Given the description of an element on the screen output the (x, y) to click on. 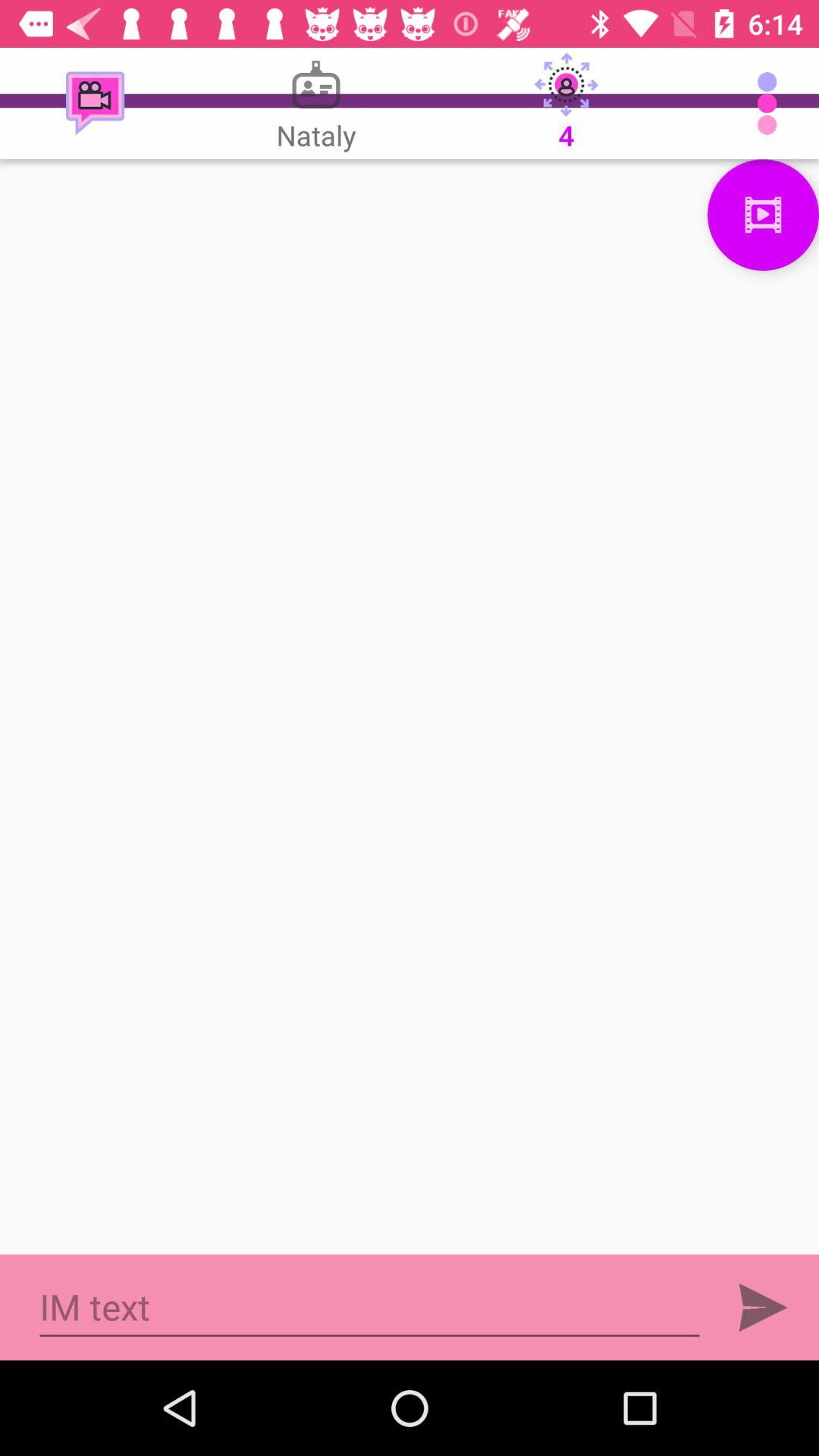
menu page (763, 214)
